Given the description of an element on the screen output the (x, y) to click on. 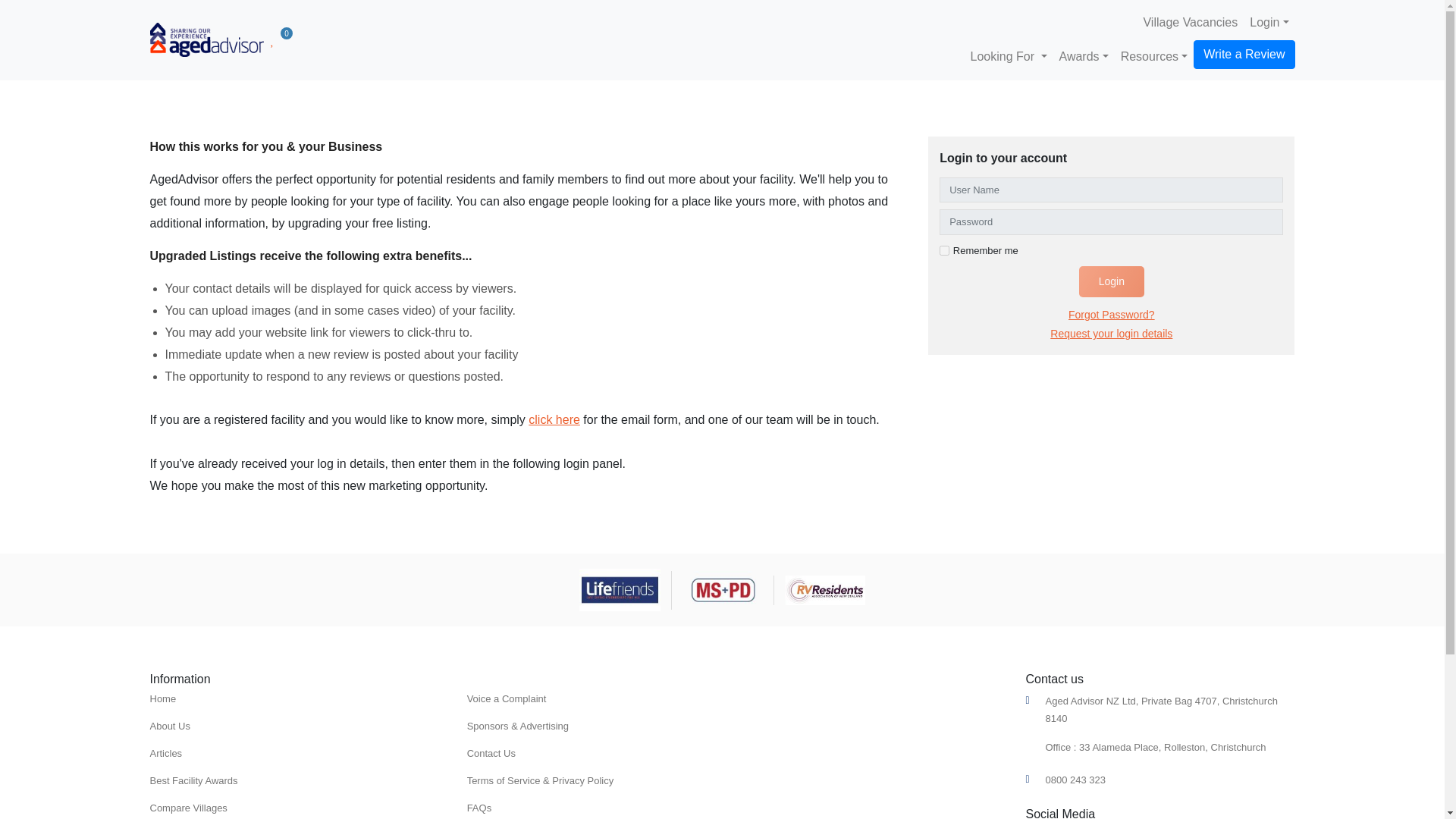
Looking For (1007, 57)
Village Vacancies (1190, 22)
Login (1268, 22)
RVRANZ - Retirement Villages Residents Assoc. NZ (824, 590)
on (944, 250)
Life Friends (620, 589)
MS-PD Canterbury (722, 589)
Aged Advisor (206, 39)
